Given the description of an element on the screen output the (x, y) to click on. 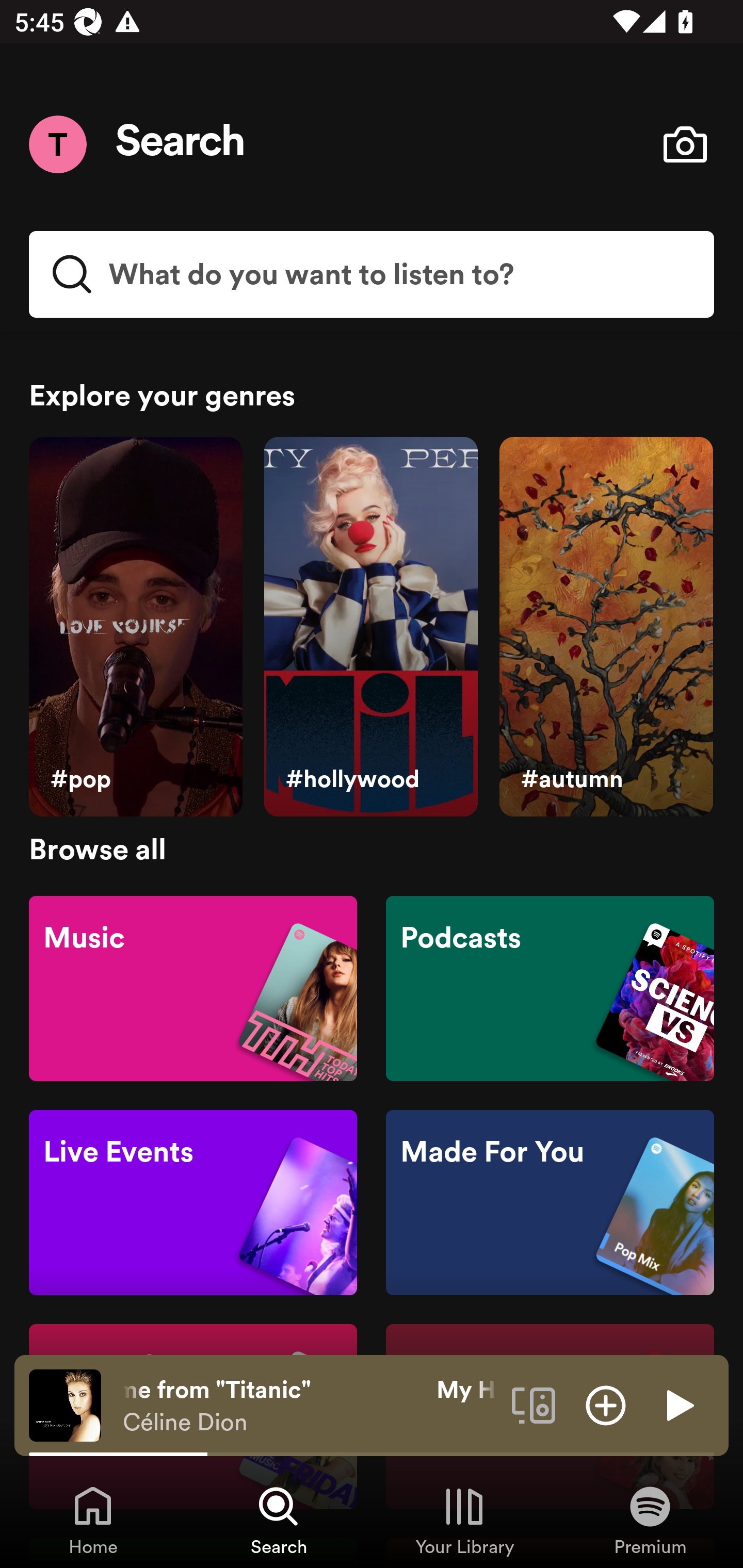
Menu (57, 144)
Open camera (685, 145)
Search (180, 144)
#pop (135, 626)
#hollywood (370, 626)
#autumn (606, 626)
Music (192, 987)
Podcasts (549, 987)
Live Events (192, 1202)
Made For You (549, 1202)
The cover art of the currently playing track (64, 1404)
Connect to a device. Opens the devices menu (533, 1404)
Add item (605, 1404)
Play (677, 1404)
Home, Tab 1 of 4 Home Home (92, 1519)
Search, Tab 2 of 4 Search Search (278, 1519)
Your Library, Tab 3 of 4 Your Library Your Library (464, 1519)
Premium, Tab 4 of 4 Premium Premium (650, 1519)
